Given the description of an element on the screen output the (x, y) to click on. 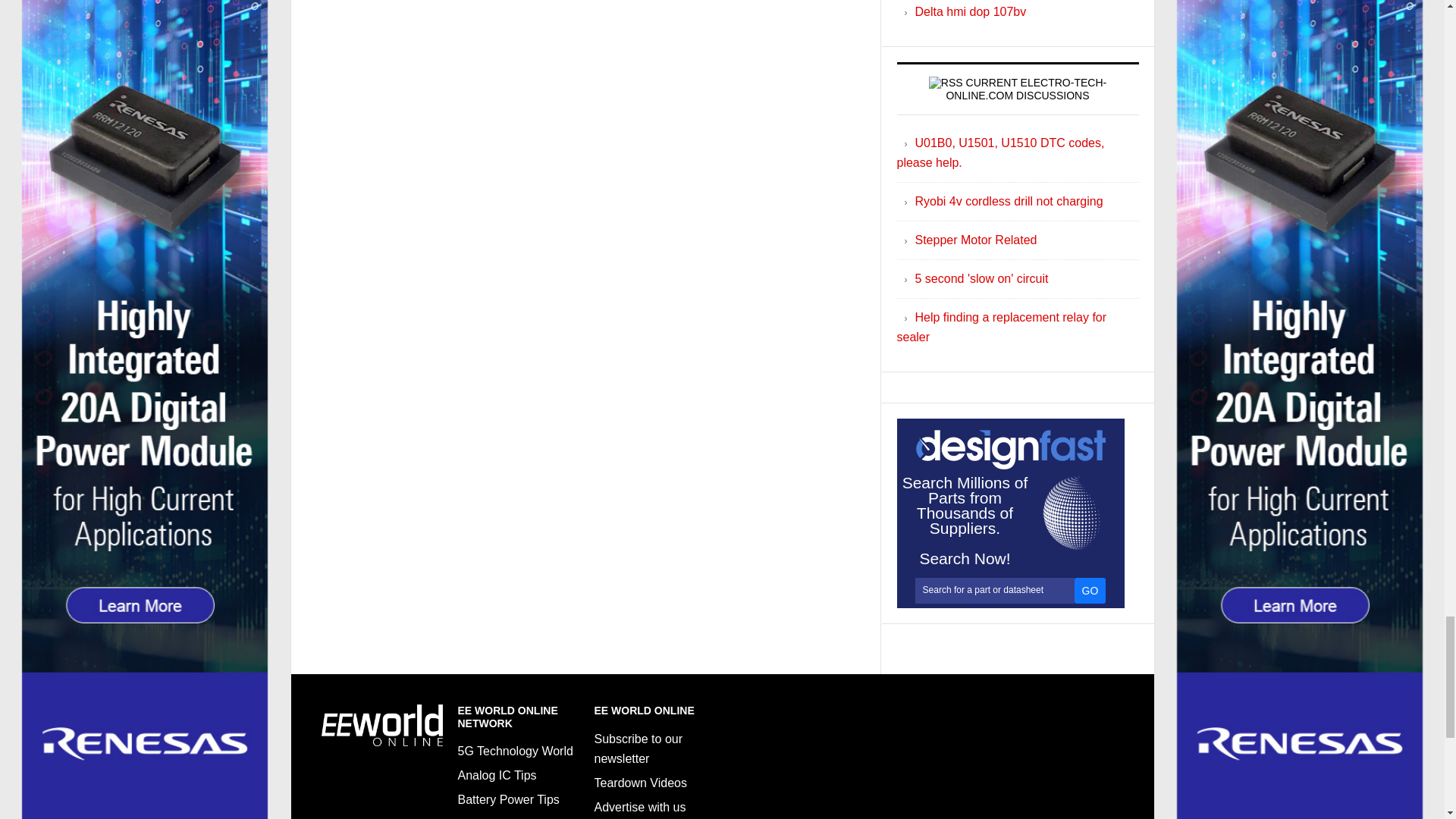
GO (1090, 590)
